Given the description of an element on the screen output the (x, y) to click on. 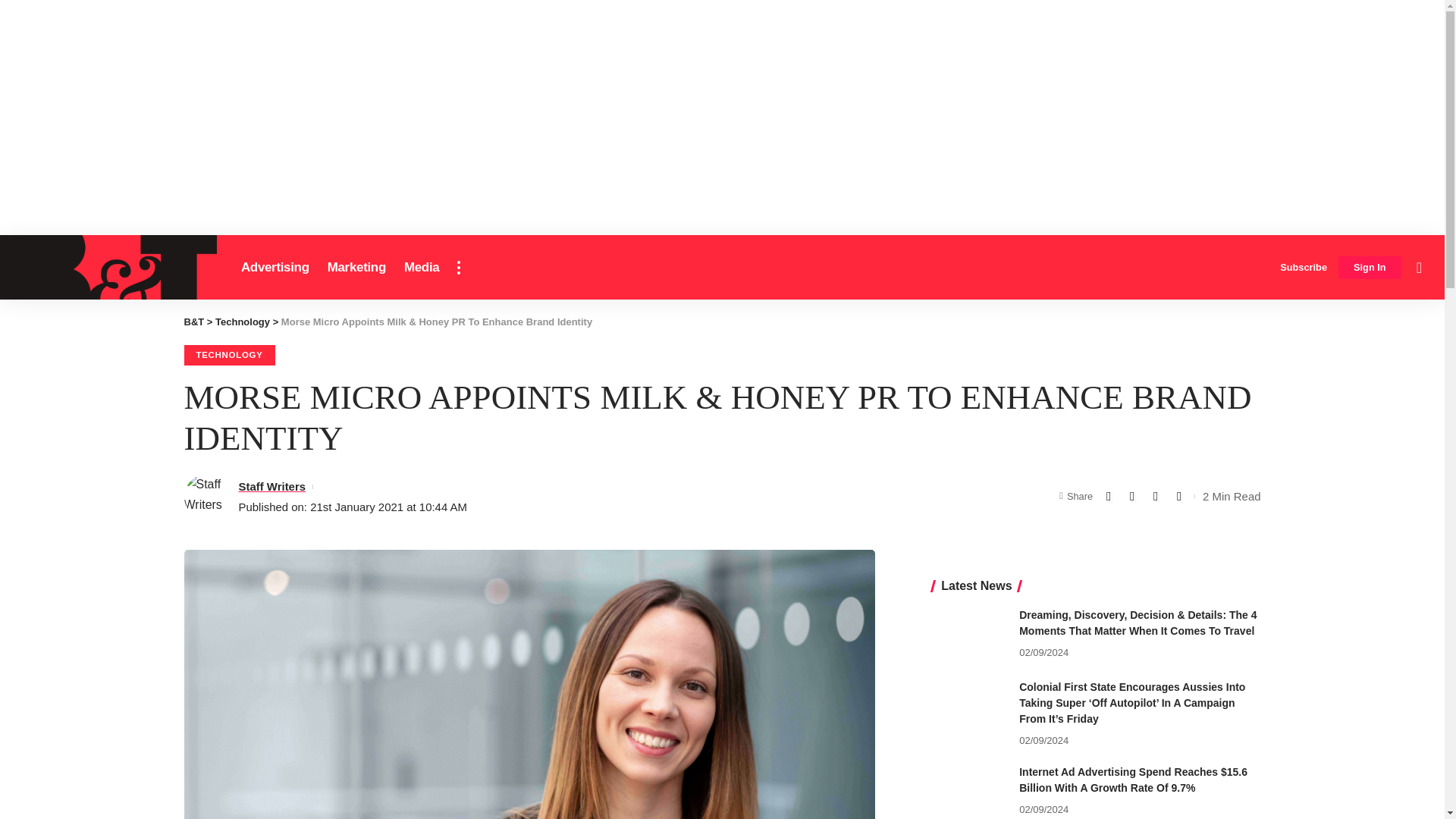
Go to the Technology Category archives. (242, 321)
Advertising (274, 267)
Sign In (1369, 267)
Marketing (356, 267)
